Given the description of an element on the screen output the (x, y) to click on. 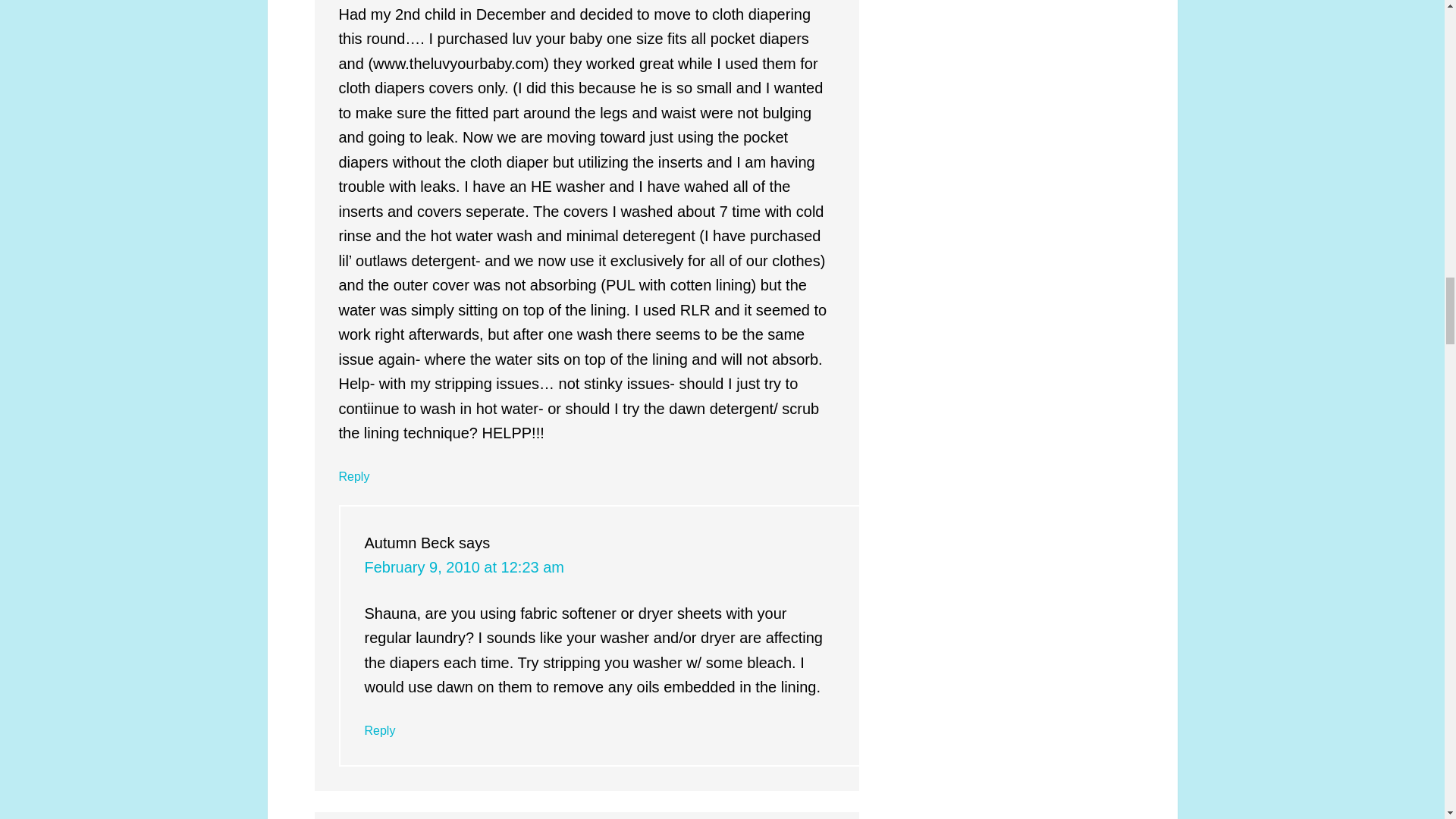
February 9, 2010 at 12:23 am (464, 566)
Reply (379, 730)
Reply (353, 476)
